Given the description of an element on the screen output the (x, y) to click on. 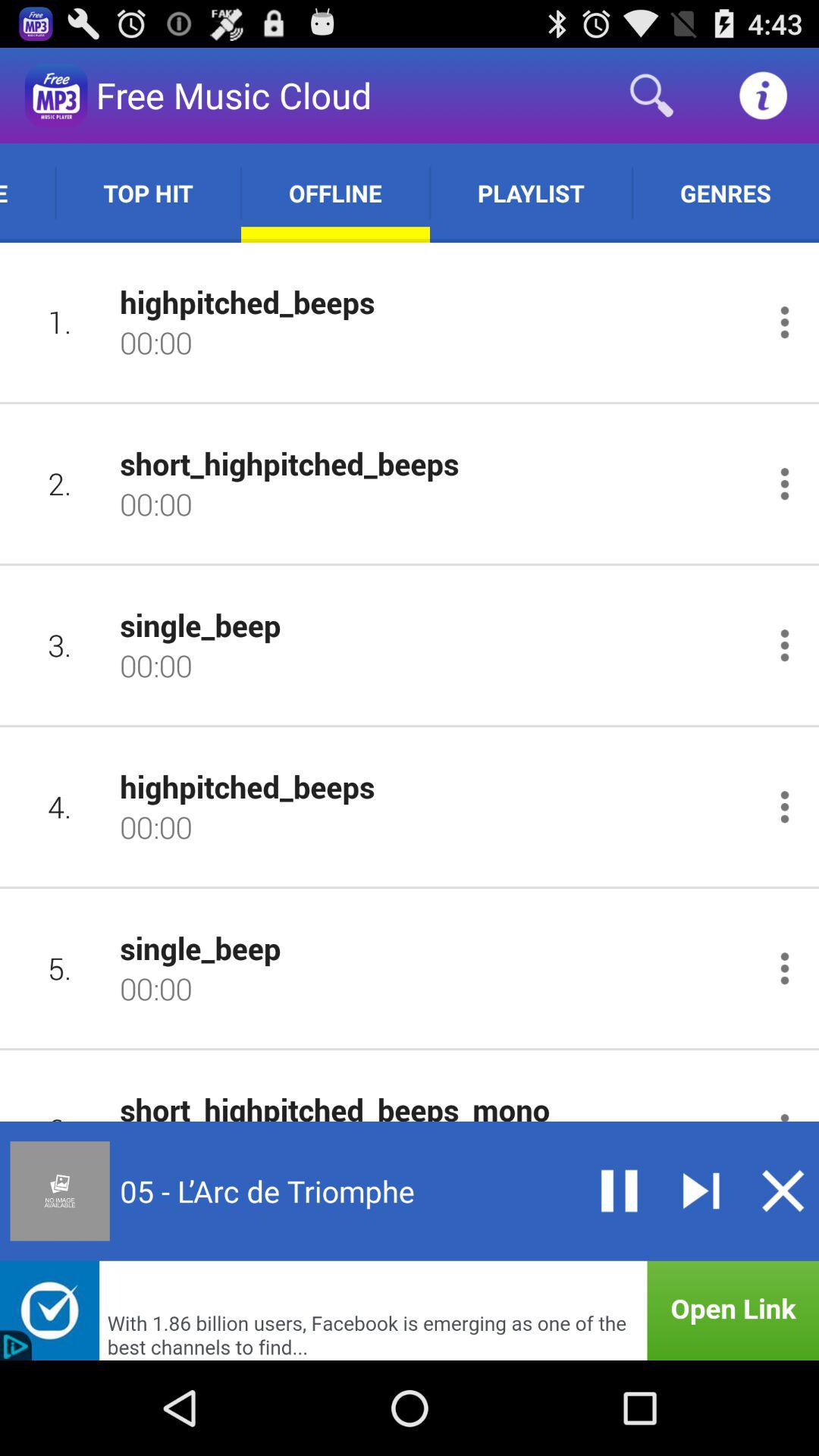
close song (783, 1190)
